Given the description of an element on the screen output the (x, y) to click on. 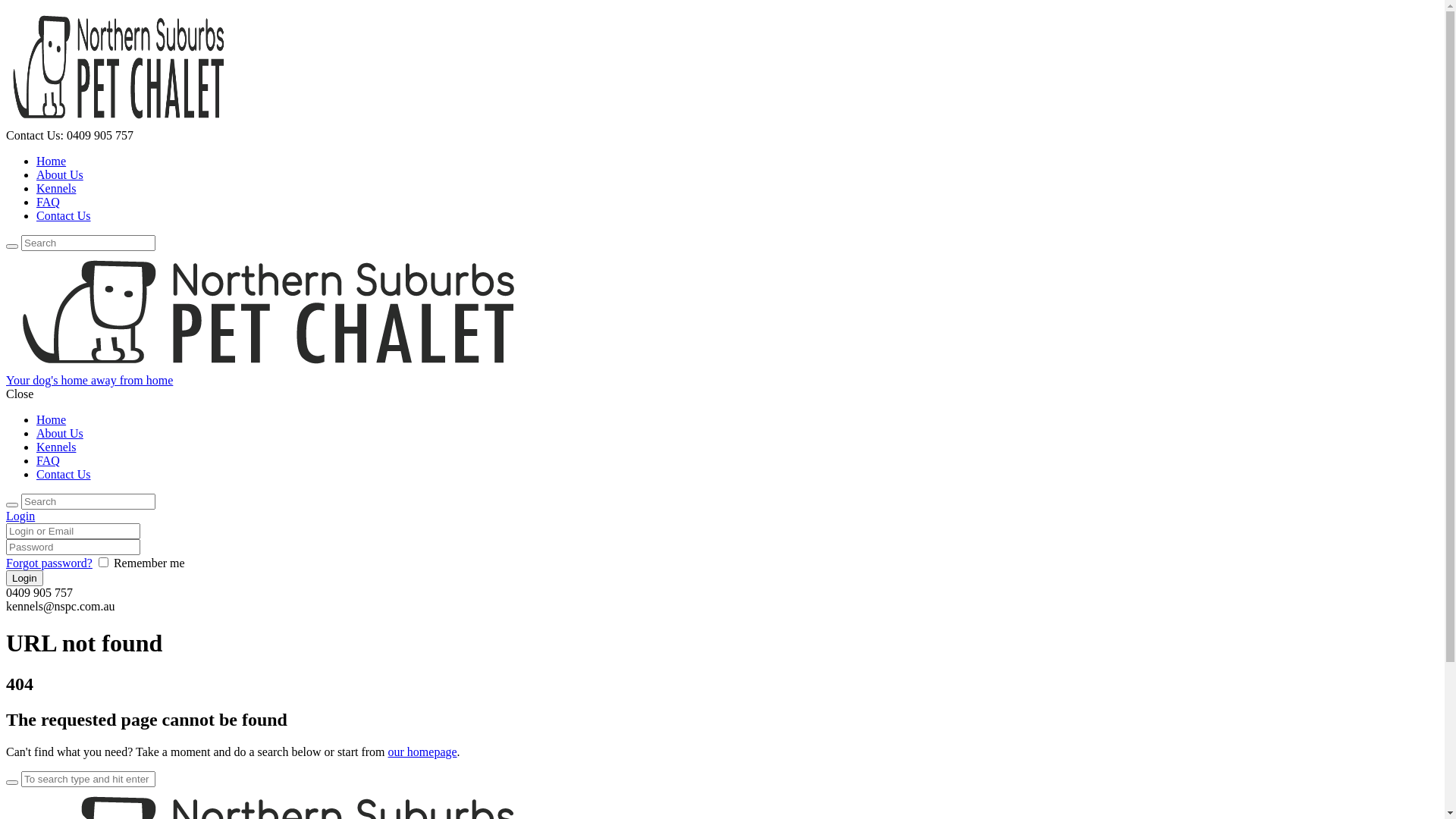
Contact Us Element type: text (63, 473)
About Us Element type: text (59, 432)
Kennels Element type: text (55, 446)
our homepage Element type: text (422, 751)
Forgot password? Element type: text (49, 562)
Kennels Element type: text (55, 188)
FAQ Element type: text (47, 201)
Home Element type: text (50, 419)
0409 905 757 Element type: text (39, 592)
Home Element type: text (50, 160)
FAQ Element type: text (47, 460)
Login Element type: text (20, 515)
Your dog's home away from home Element type: text (722, 373)
Start search Element type: hover (12, 504)
About Us Element type: text (59, 174)
Contact Us Element type: text (63, 215)
0409 905 757 Element type: text (99, 134)
Start search Element type: hover (12, 782)
Start search Element type: hover (12, 246)
Login Element type: text (24, 578)
